Given the description of an element on the screen output the (x, y) to click on. 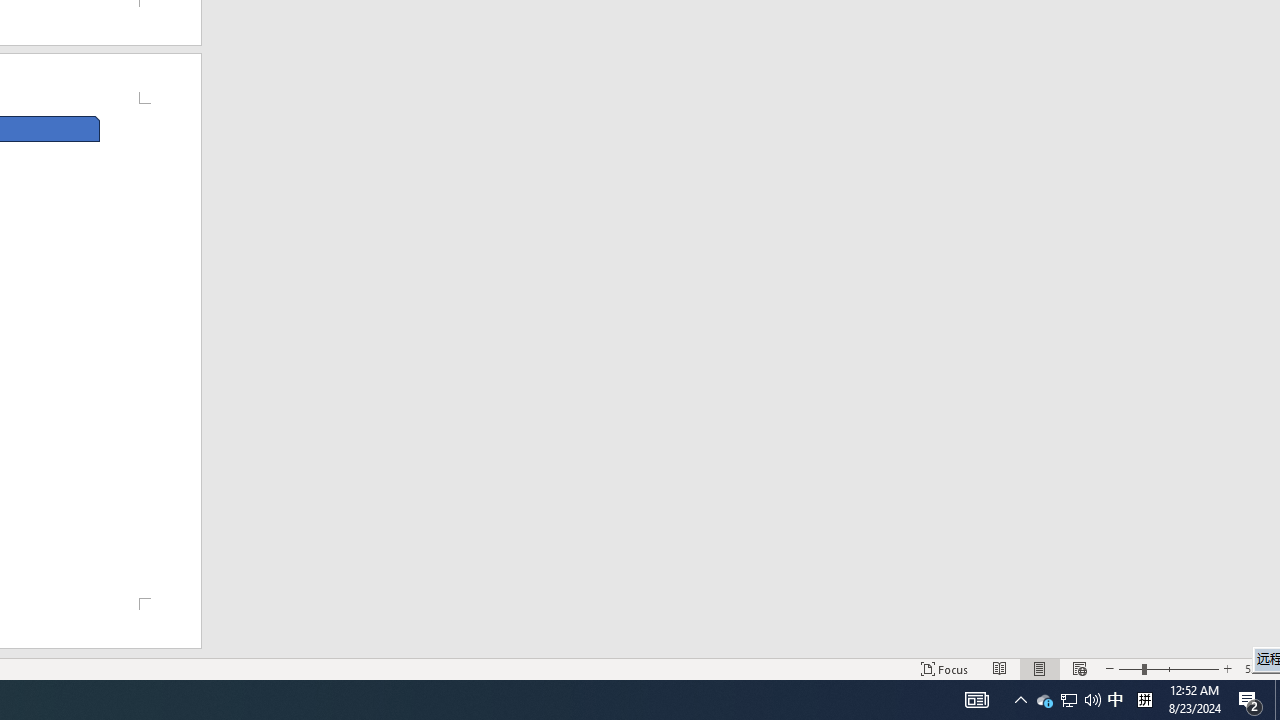
Zoom (1168, 668)
Zoom 53% (1258, 668)
